Given the description of an element on the screen output the (x, y) to click on. 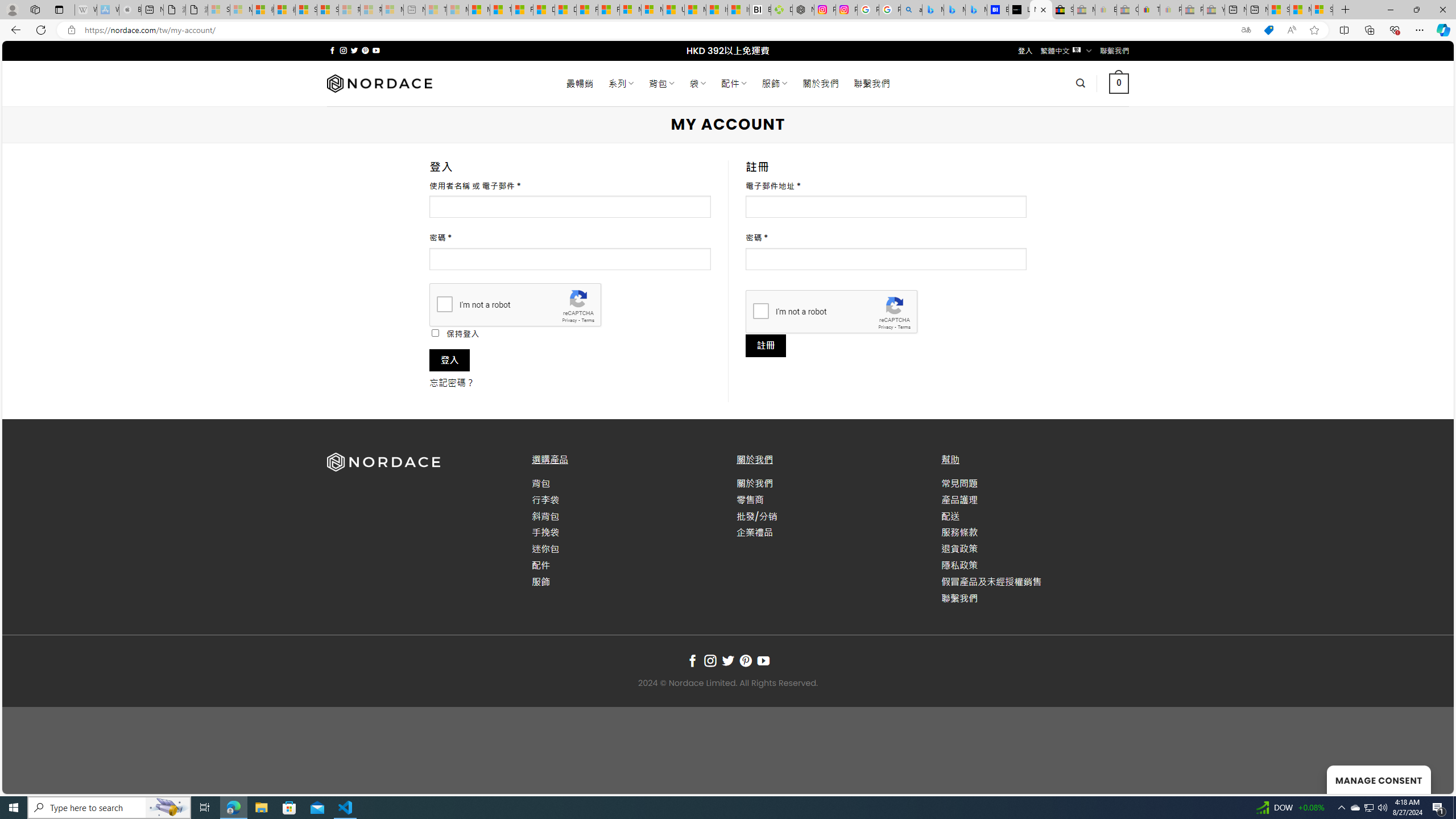
I'm not a robot (760, 310)
